Given the description of an element on the screen output the (x, y) to click on. 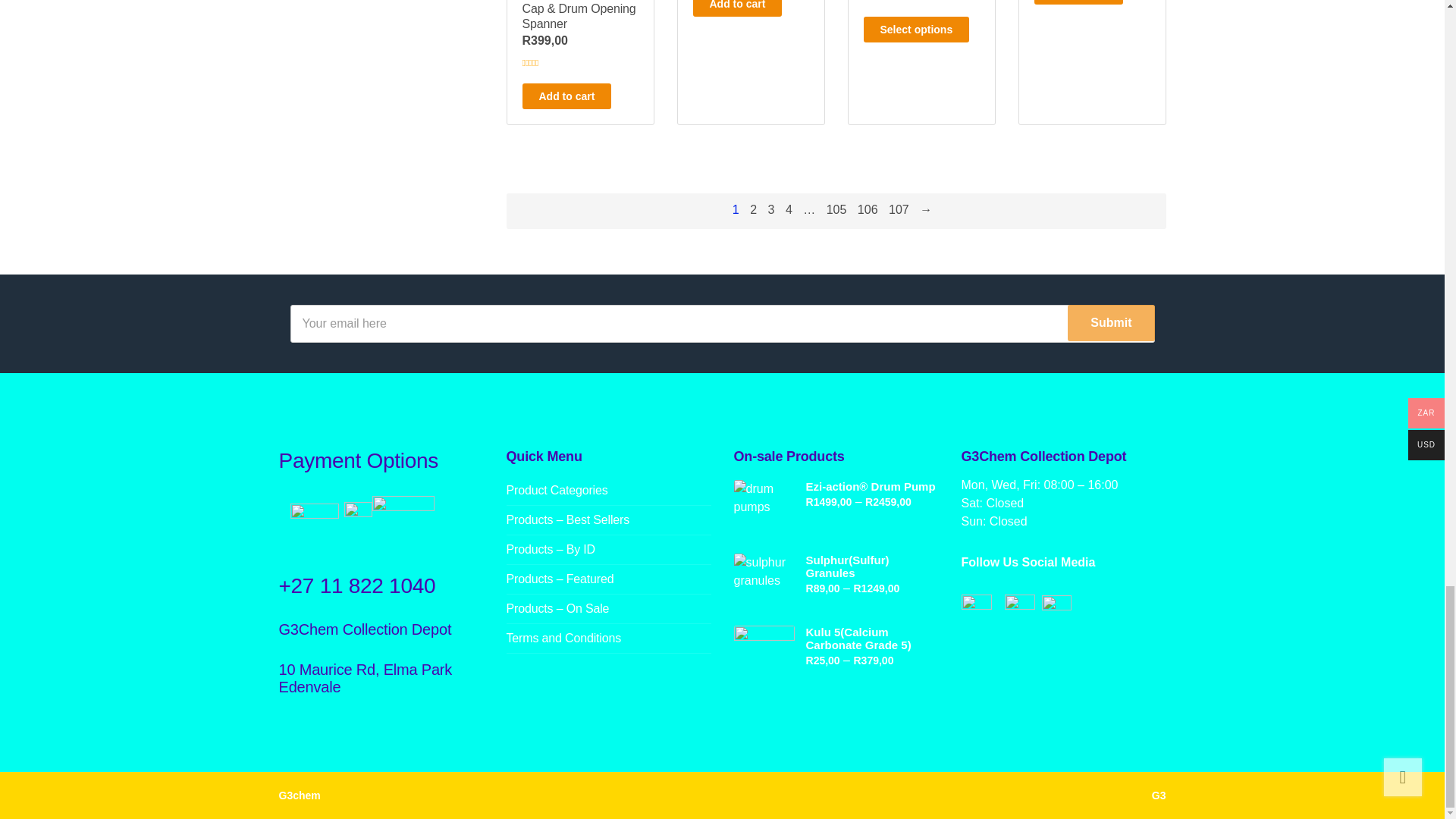
Submit (1110, 322)
